Given the description of an element on the screen output the (x, y) to click on. 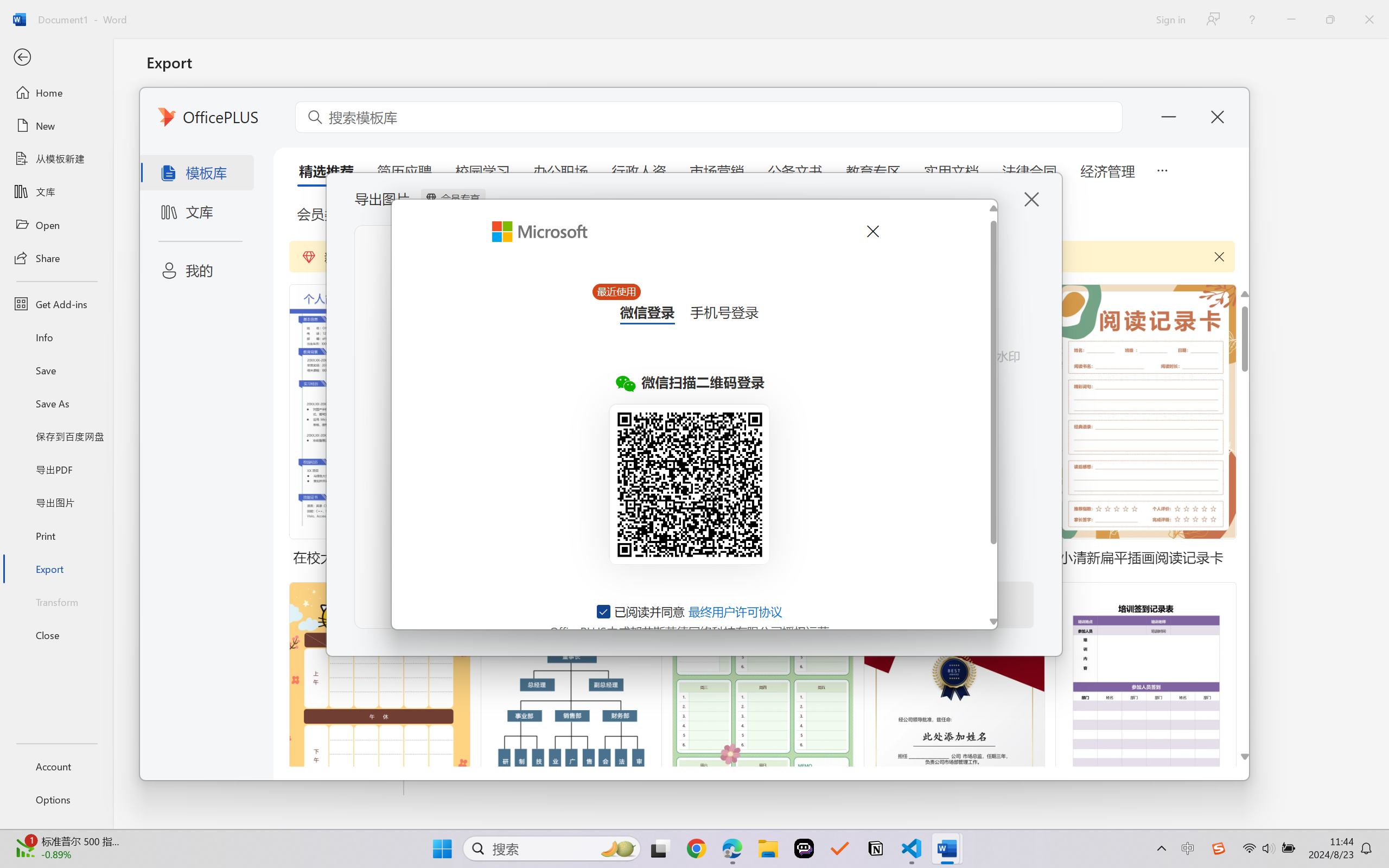
Save As (56, 403)
Get Add-ins (56, 303)
